Given the description of an element on the screen output the (x, y) to click on. 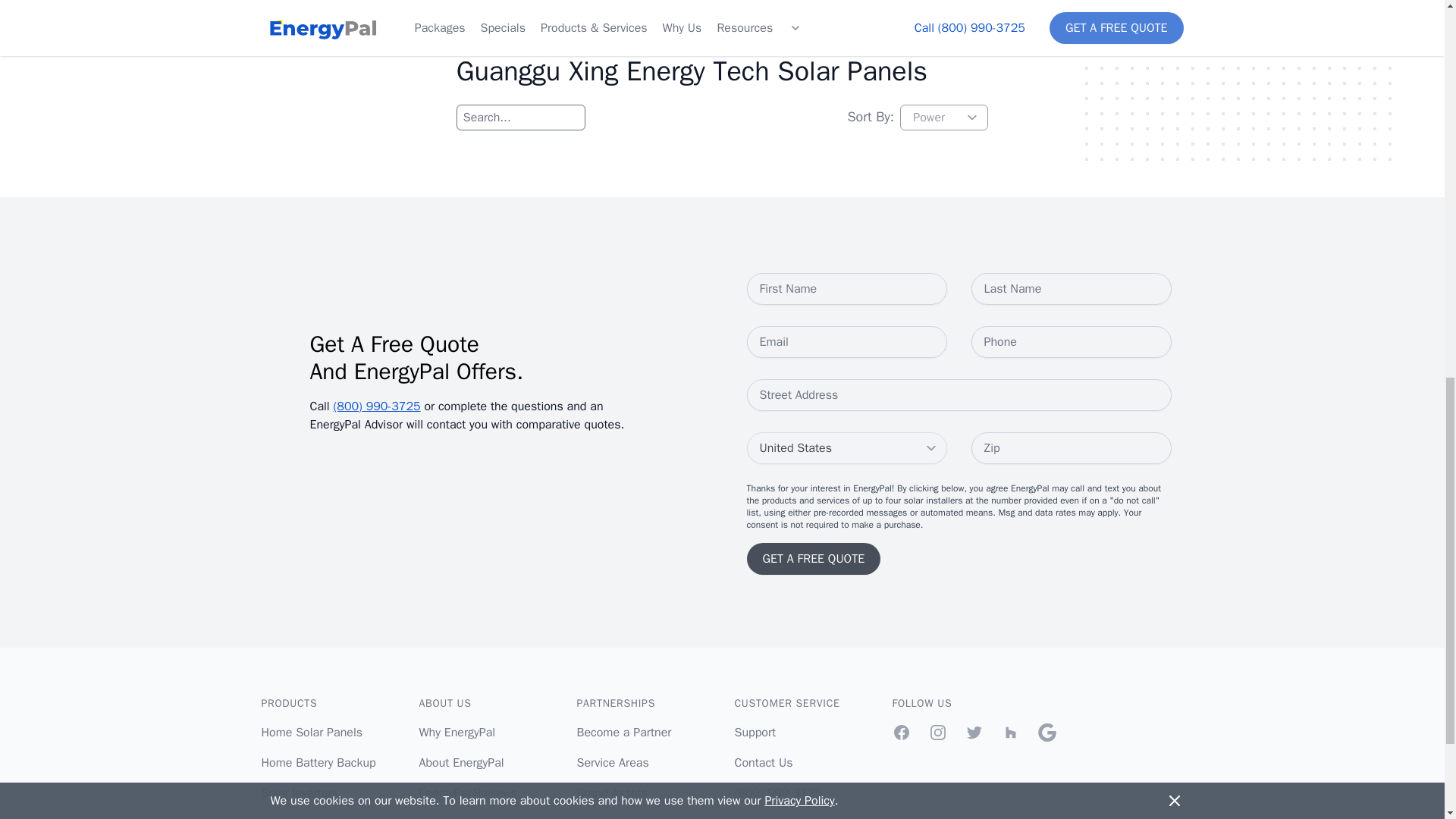
Partner Login (611, 817)
Become a Partner (623, 732)
Resources (761, 817)
Facebook (900, 732)
Support (754, 732)
Home Solar Panels (311, 732)
Careers (439, 817)
Solar Inverters (298, 792)
Brand Assets (611, 792)
Contact Us (762, 762)
About EnergyPal (461, 762)
EnergyPal Reviews (467, 792)
GET A FREE QUOTE (812, 558)
Home Battery Backup (317, 762)
Why EnergyPal (457, 732)
